Given the description of an element on the screen output the (x, y) to click on. 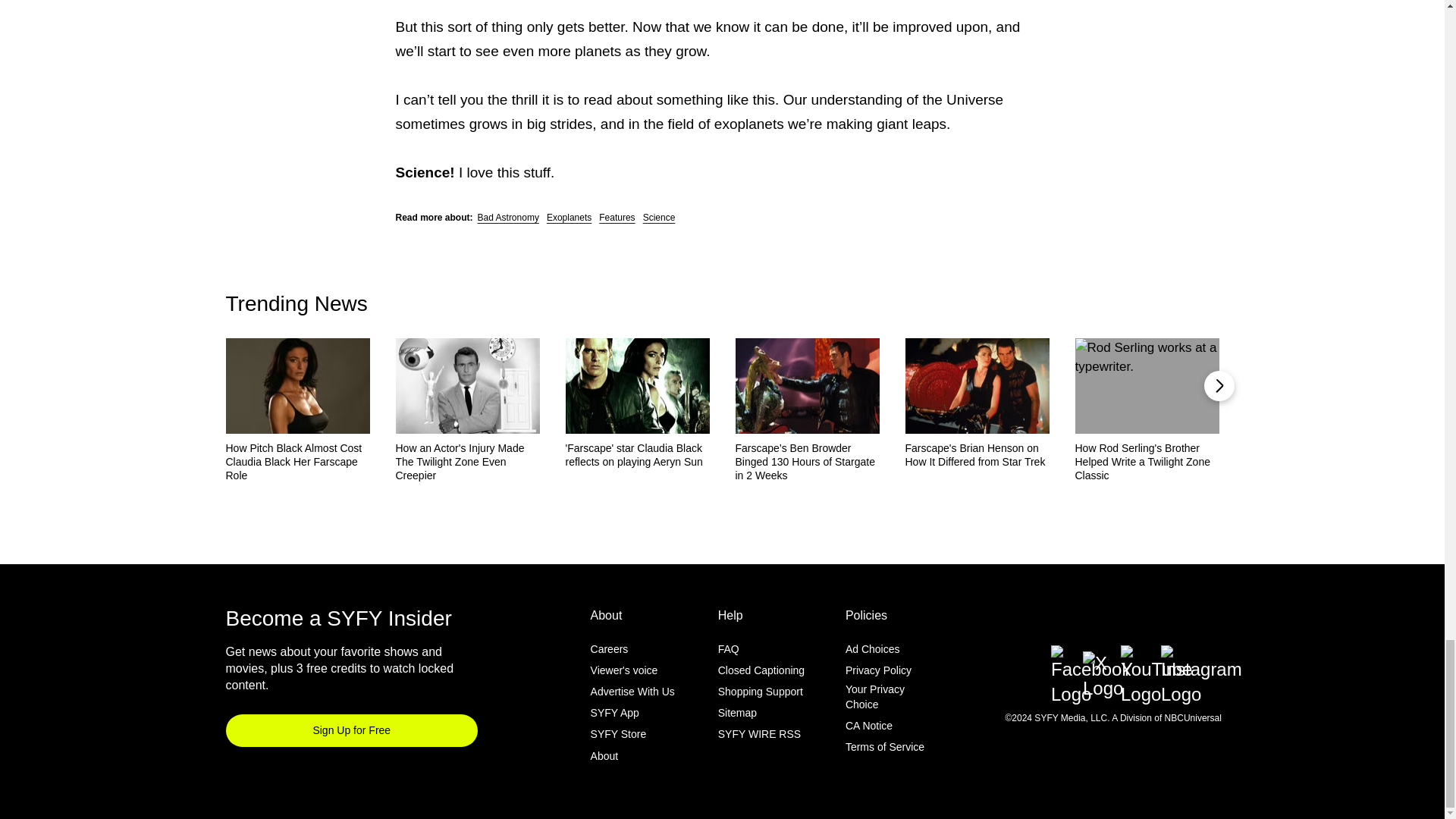
Science (659, 217)
Bad Astronomy (507, 217)
Features (616, 217)
Advertise With Us (633, 691)
Exoplanets (569, 217)
